Given the description of an element on the screen output the (x, y) to click on. 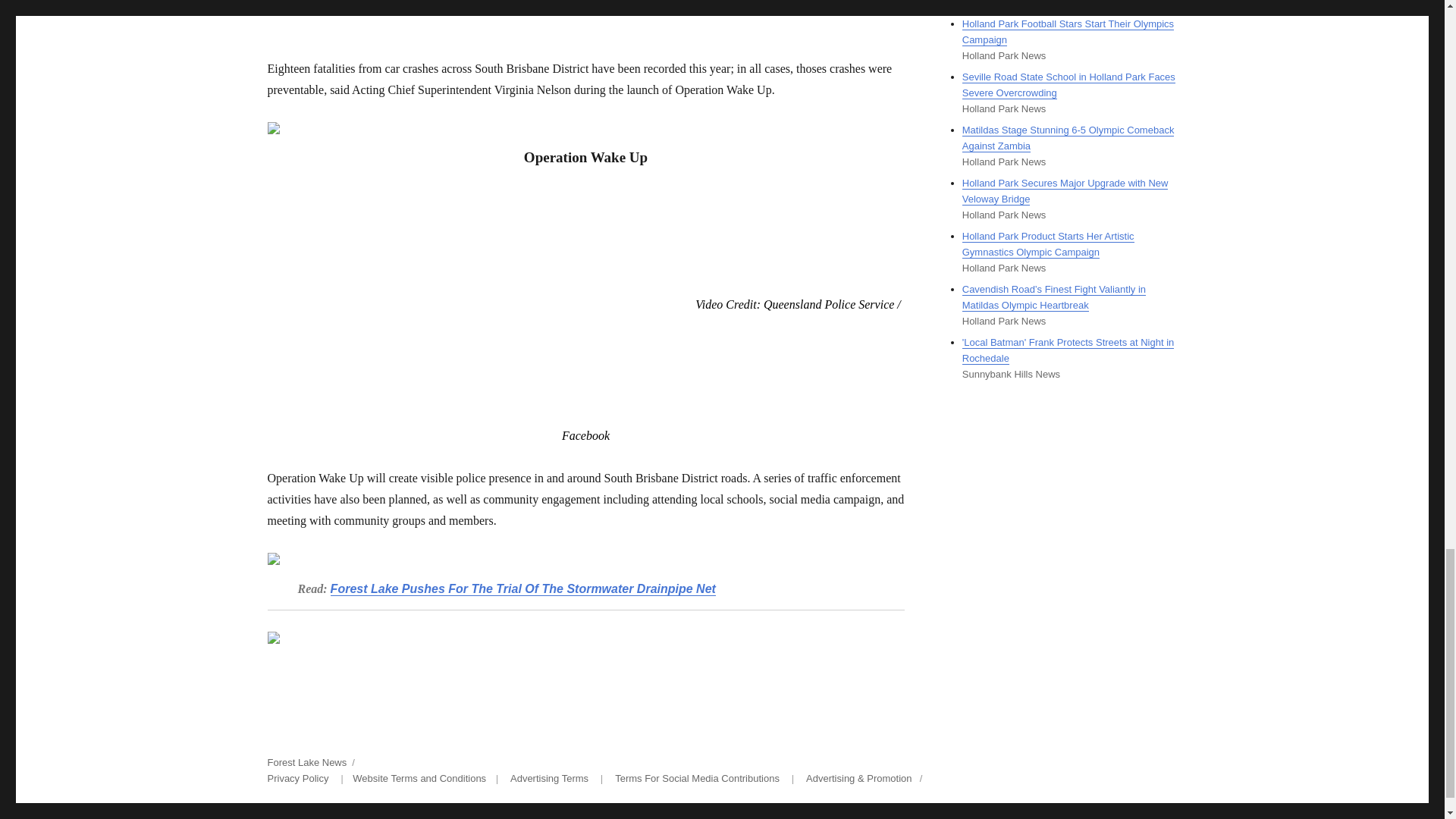
Privacy Policy (297, 778)
Holland Park Secures Major Upgrade with New Veloway Bridge (1065, 190)
Forest Lake News (306, 762)
Matildas Stage Stunning 6-5 Olympic Comeback Against Zambia (1068, 137)
Holland Park Football Stars Start Their Olympics Campaign (1067, 31)
'Local Batman' Frank Protects Streets at Night in Rochedale (1068, 349)
